Given the description of an element on the screen output the (x, y) to click on. 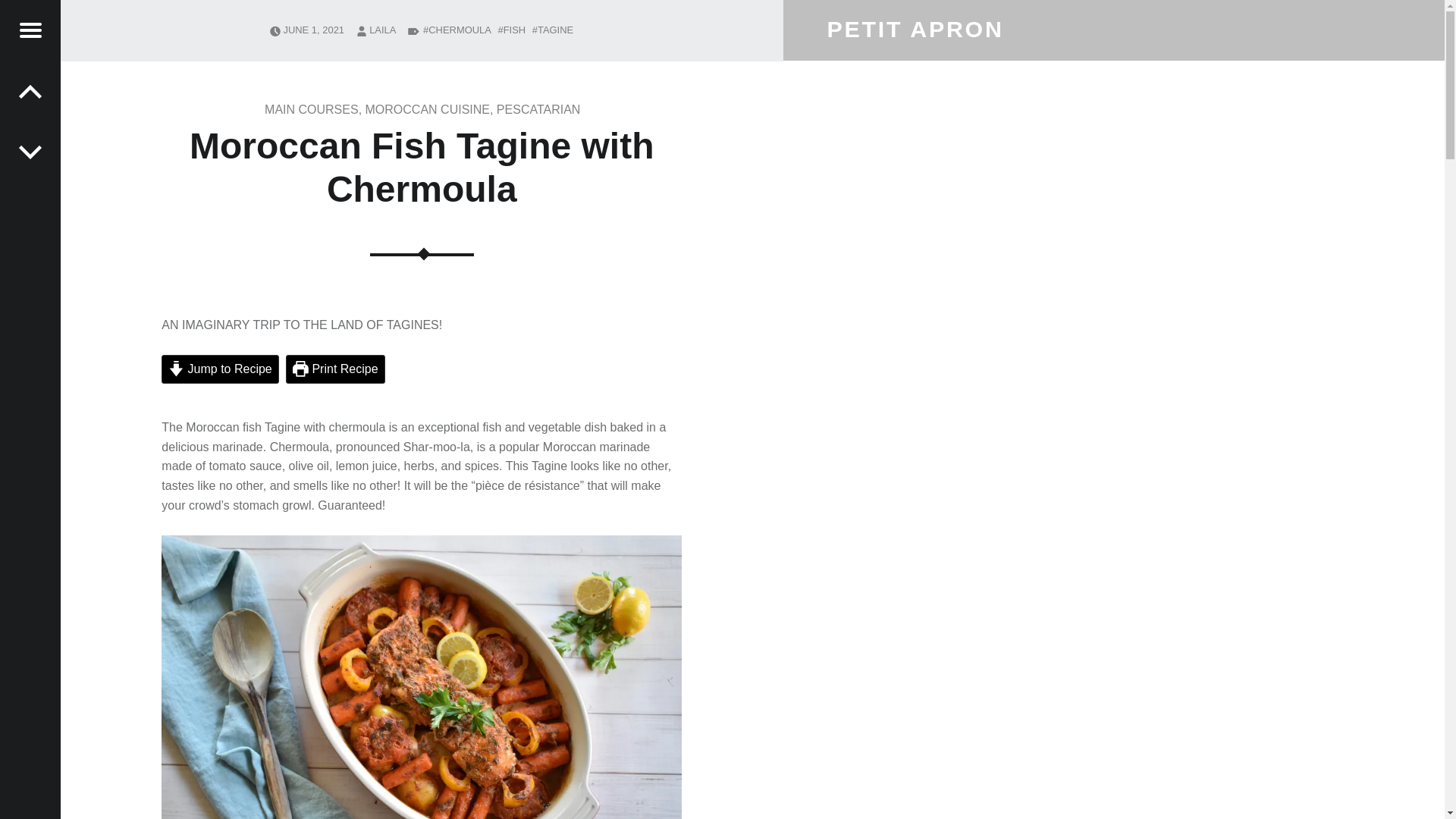
MAIN COURSES (311, 109)
CHERMOULA (457, 30)
TAGINE (552, 30)
LAILA (382, 30)
FISH (511, 30)
Jump to Recipe (219, 369)
MOROCCAN CUISINE (427, 109)
Petit Apron (915, 28)
PETIT APRON (915, 28)
PESCATARIAN (538, 109)
